Given the description of an element on the screen output the (x, y) to click on. 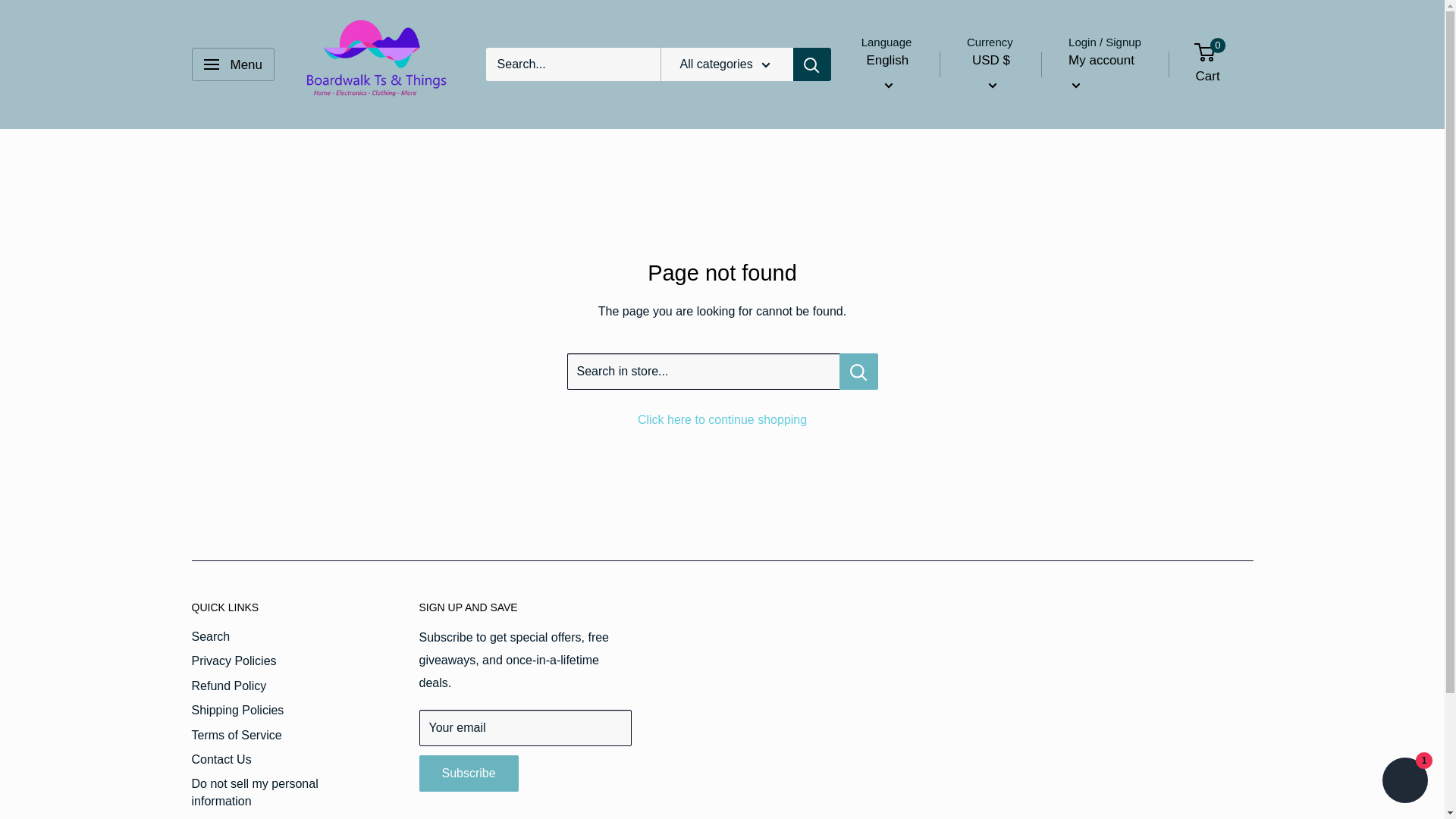
CAD (1005, 125)
Menu (232, 64)
Shopify online store chat (1404, 781)
USD (1005, 149)
English (887, 72)
en (897, 125)
fr (897, 149)
